Given the description of an element on the screen output the (x, y) to click on. 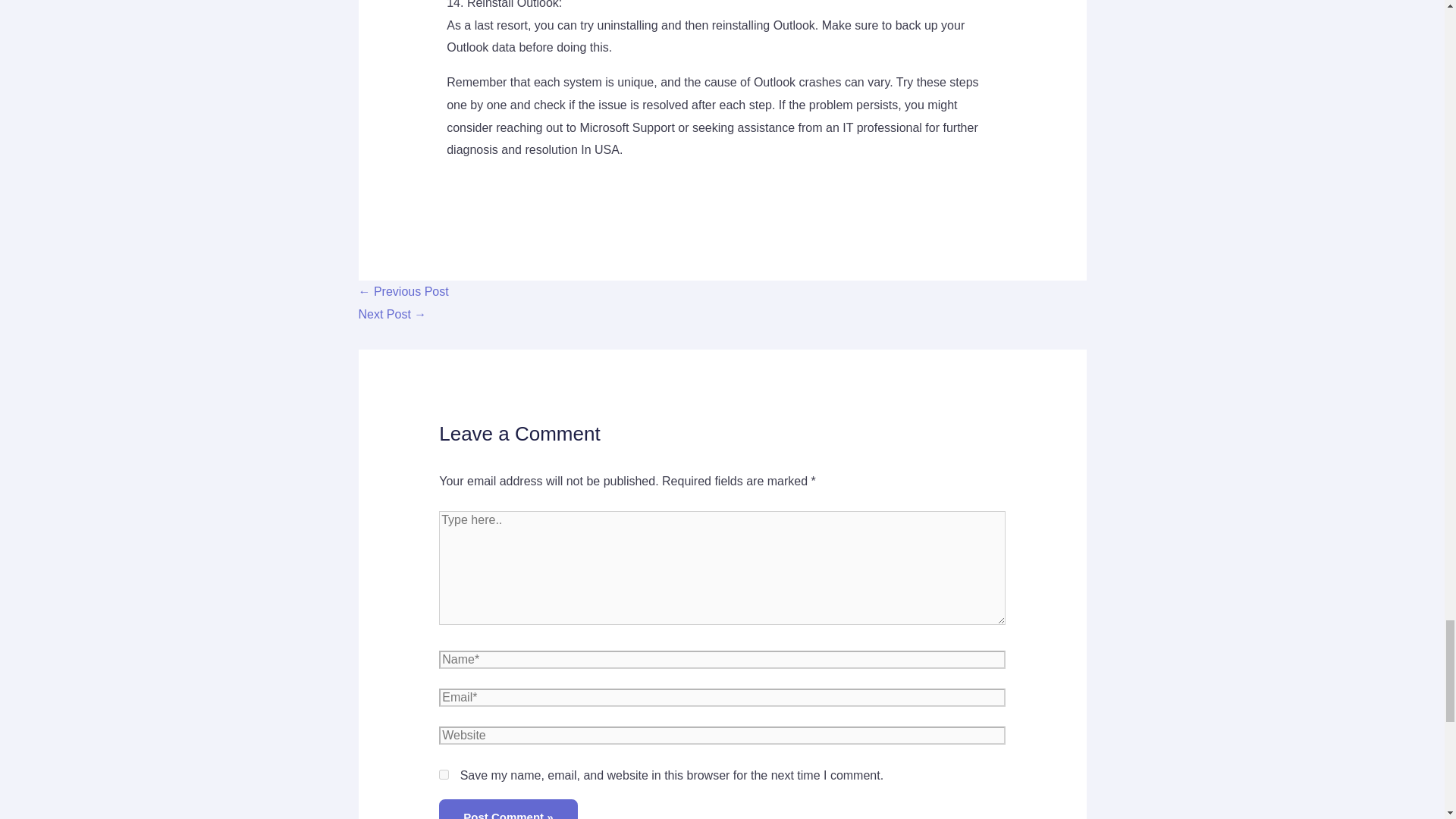
yes (443, 774)
8 Ways to Fix Microsoft Outlook Crashing on Windows (392, 314)
Outlook 2016 Crashes When Opening: 6 Methods to Prevent it (403, 291)
